Given the description of an element on the screen output the (x, y) to click on. 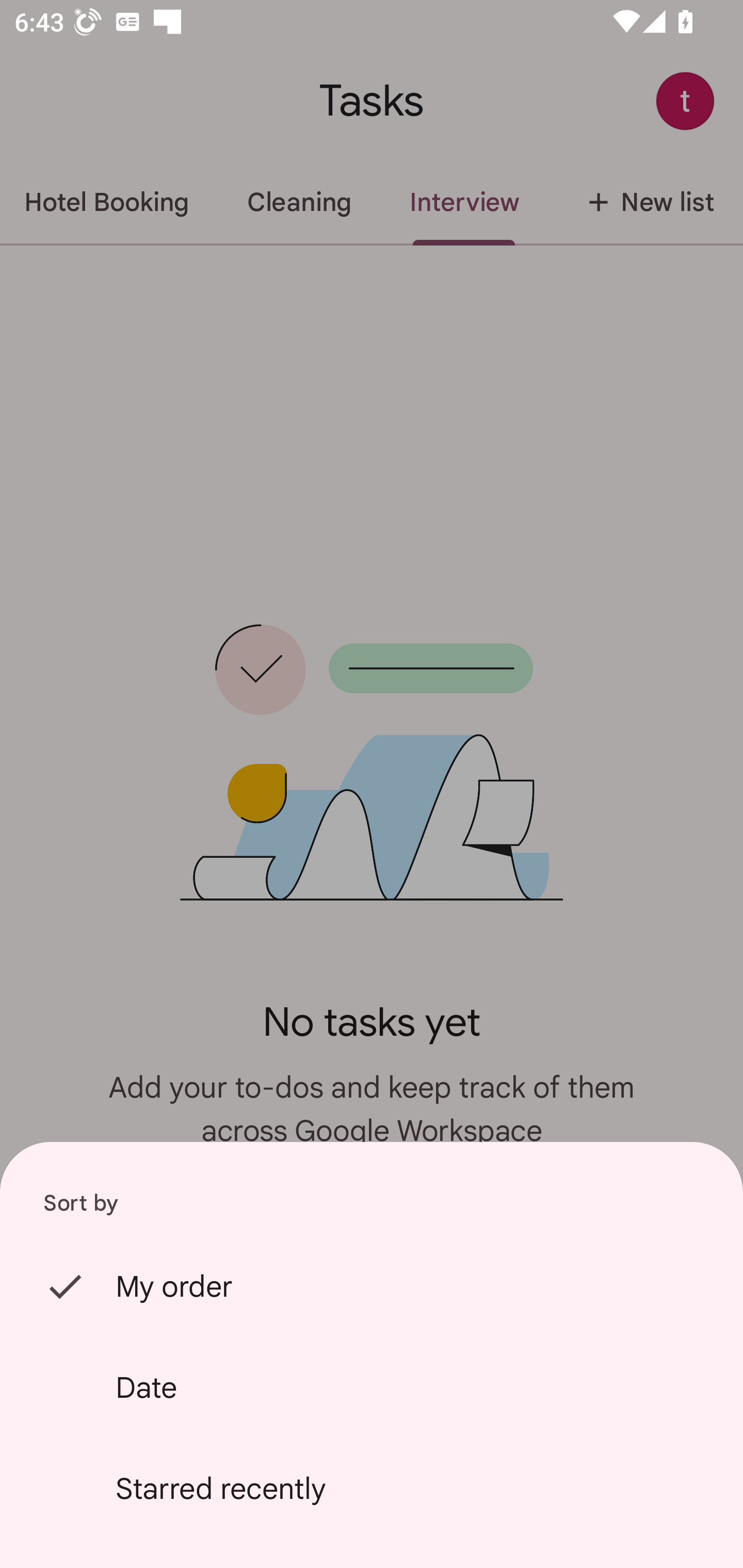
My order (371, 1286)
Date (371, 1387)
Starred recently (371, 1488)
